Given the description of an element on the screen output the (x, y) to click on. 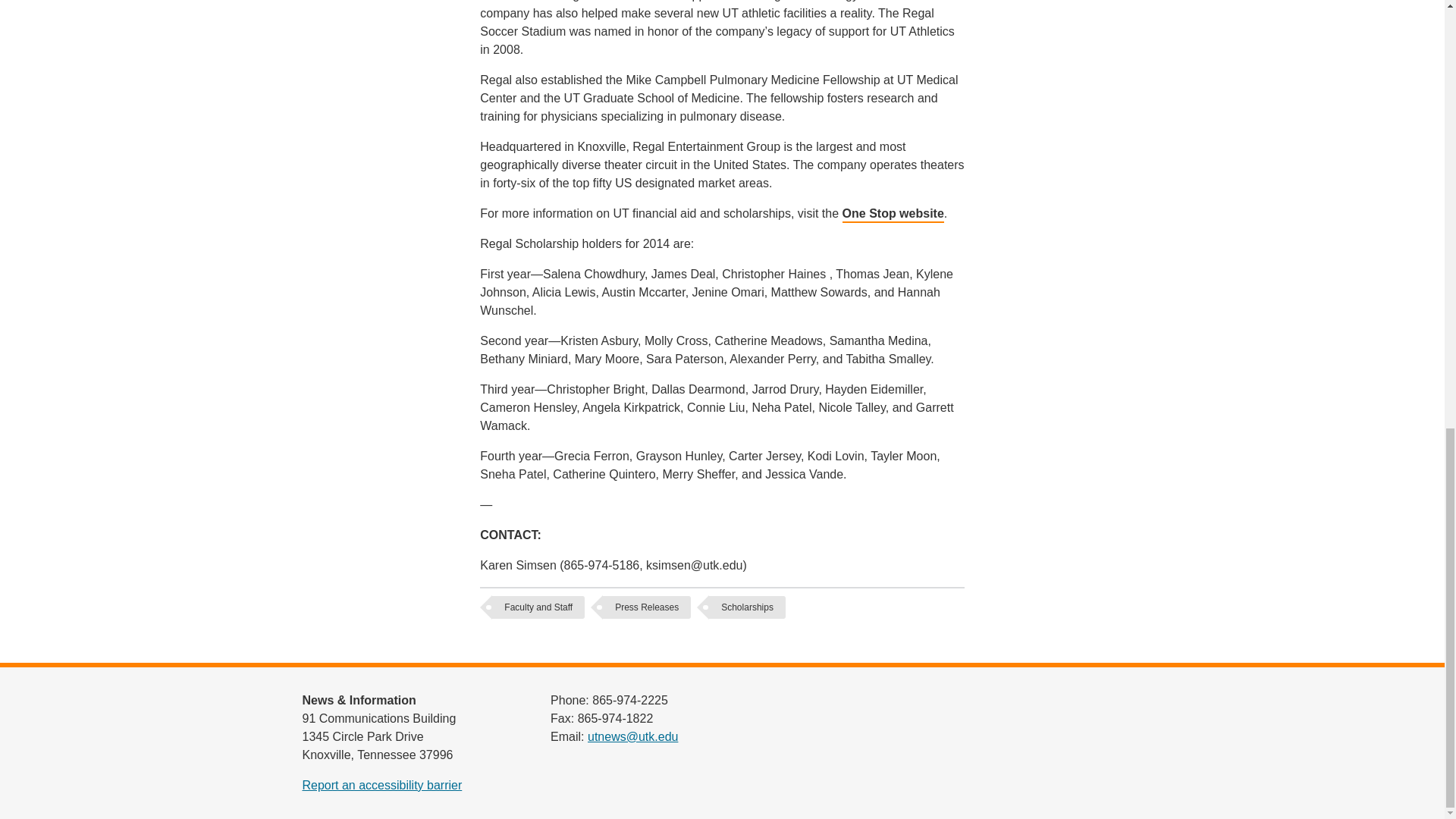
Press Releases (646, 607)
Faculty and Staff (538, 607)
Scholarships (747, 607)
One Stop website (893, 214)
Report an accessibility barrier (381, 784)
